Given the description of an element on the screen output the (x, y) to click on. 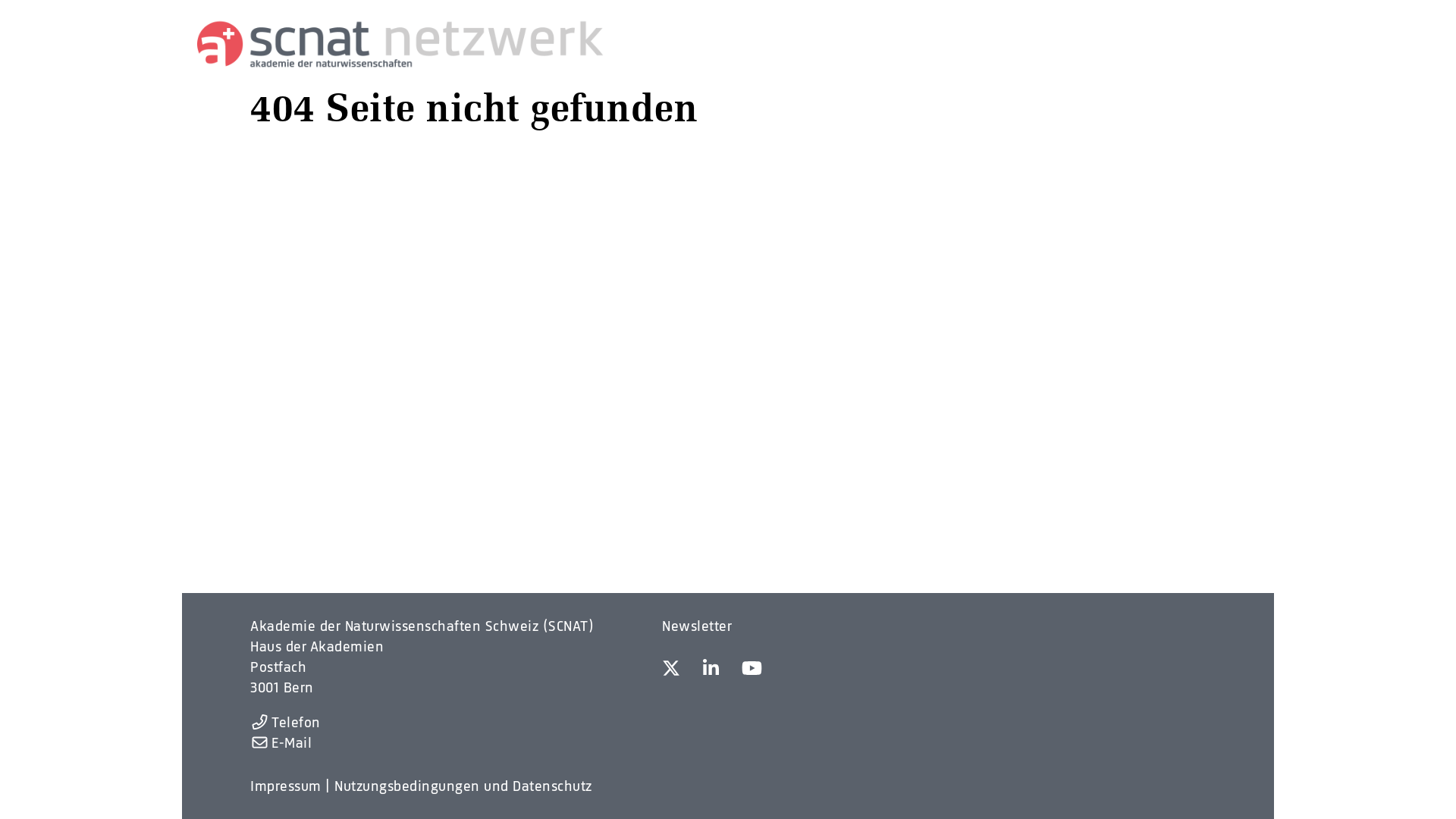
Nutzungsbedingungen und Datenschutz Element type: text (463, 785)
E-Mail Element type: text (280, 742)
YouTube Element type: hover (751, 669)
Impressum Element type: text (285, 785)
LinkedIn Element type: hover (710, 669)
Telefon Element type: text (285, 722)
Newsletter Element type: text (696, 625)
X Element type: hover (671, 669)
